Given the description of an element on the screen output the (x, y) to click on. 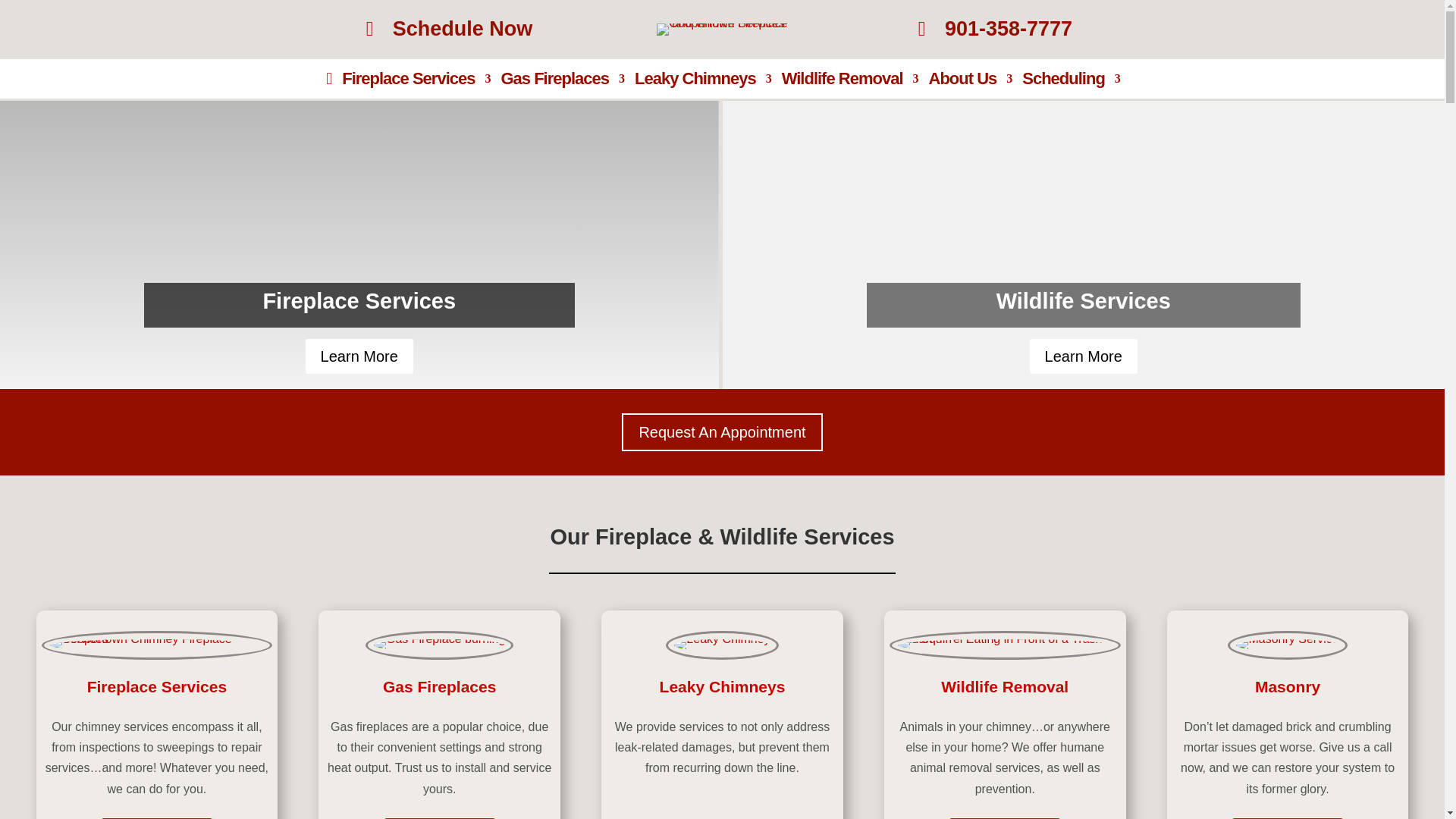
Wildlife Removal (849, 81)
Coopertown Chimney Leaky Chimney (722, 645)
Coopertown Chimney Fireplace Services (156, 645)
About Us (969, 81)
Gas Fireplaces (562, 81)
Schedule Now (449, 29)
Leaky Chimneys (702, 81)
Fireplace Services (415, 81)
Learn More (1083, 356)
